Given the description of an element on the screen output the (x, y) to click on. 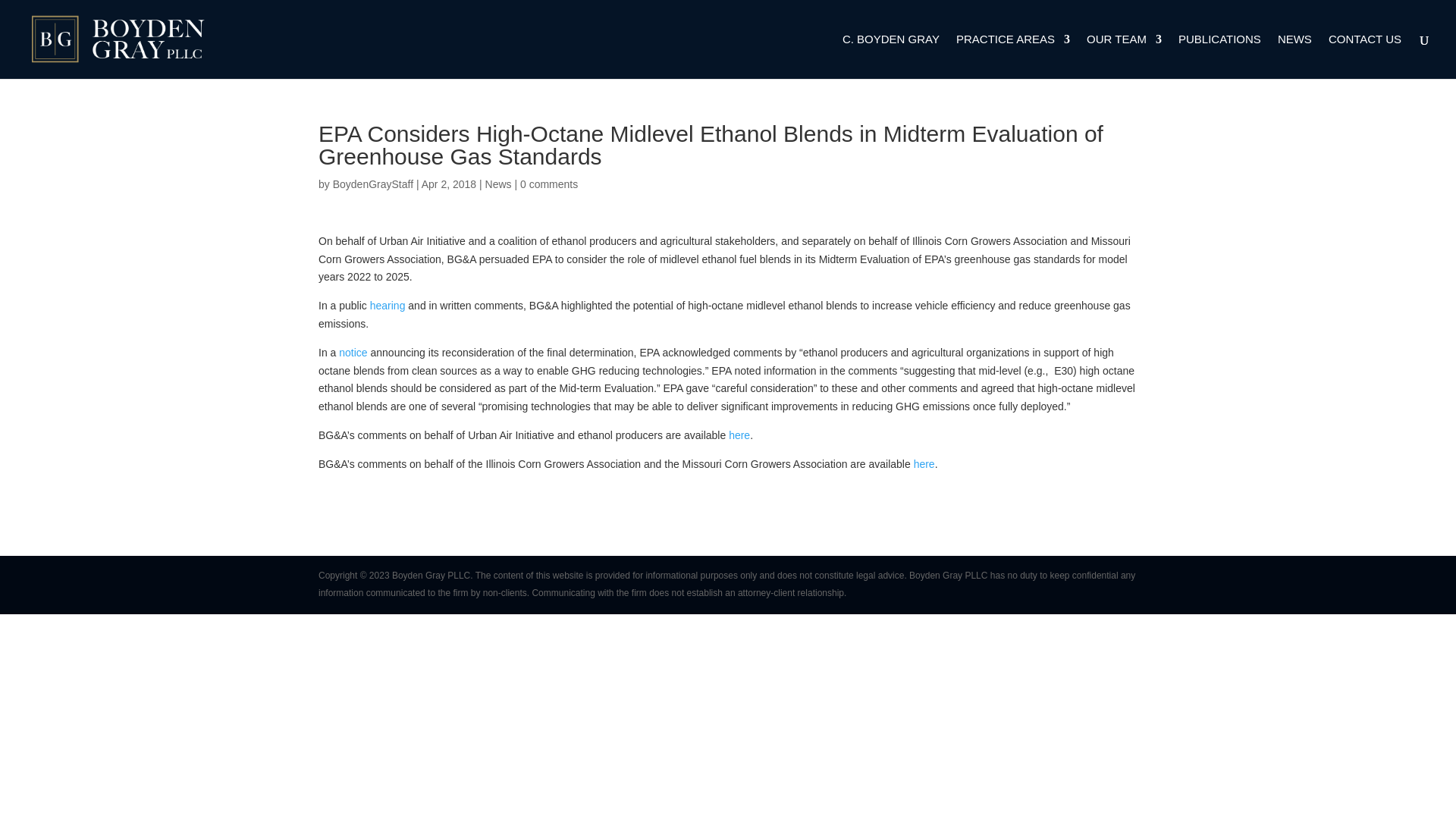
PRACTICE AREAS (1013, 56)
CONTACT US (1363, 56)
OUR TEAM (1123, 56)
PUBLICATIONS (1218, 56)
Posts by BoydenGrayStaff (373, 184)
C. BOYDEN GRAY (891, 56)
